Given the description of an element on the screen output the (x, y) to click on. 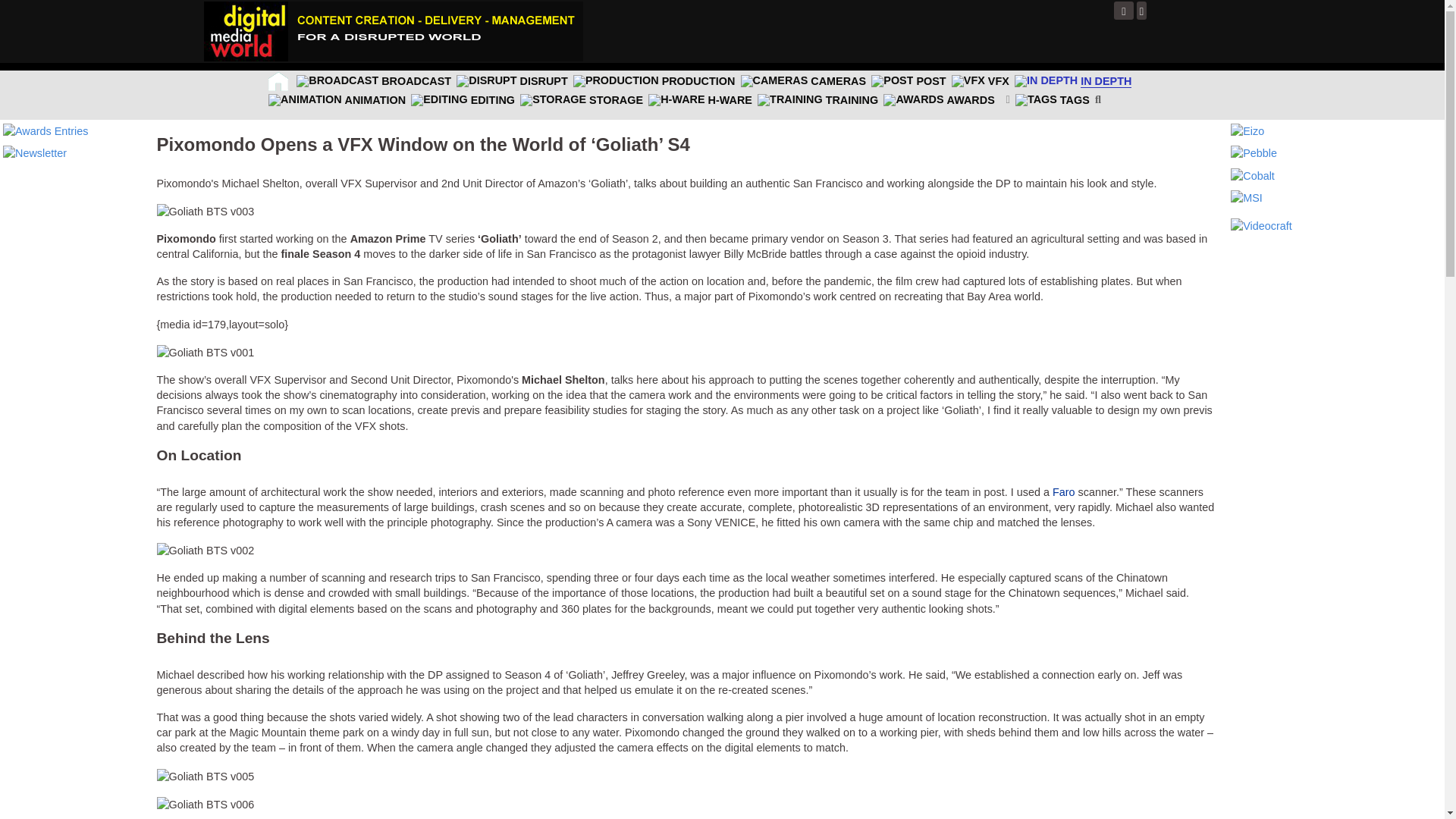
AWARDS (946, 100)
DISRUPT (513, 80)
PRODUCTION (653, 80)
STORAGE (581, 100)
BROADCAST (373, 80)
ANIMATION (336, 100)
Newsletter (34, 152)
TAGS (1051, 100)
Awards Entries (45, 130)
search (1100, 99)
